Given the description of an element on the screen output the (x, y) to click on. 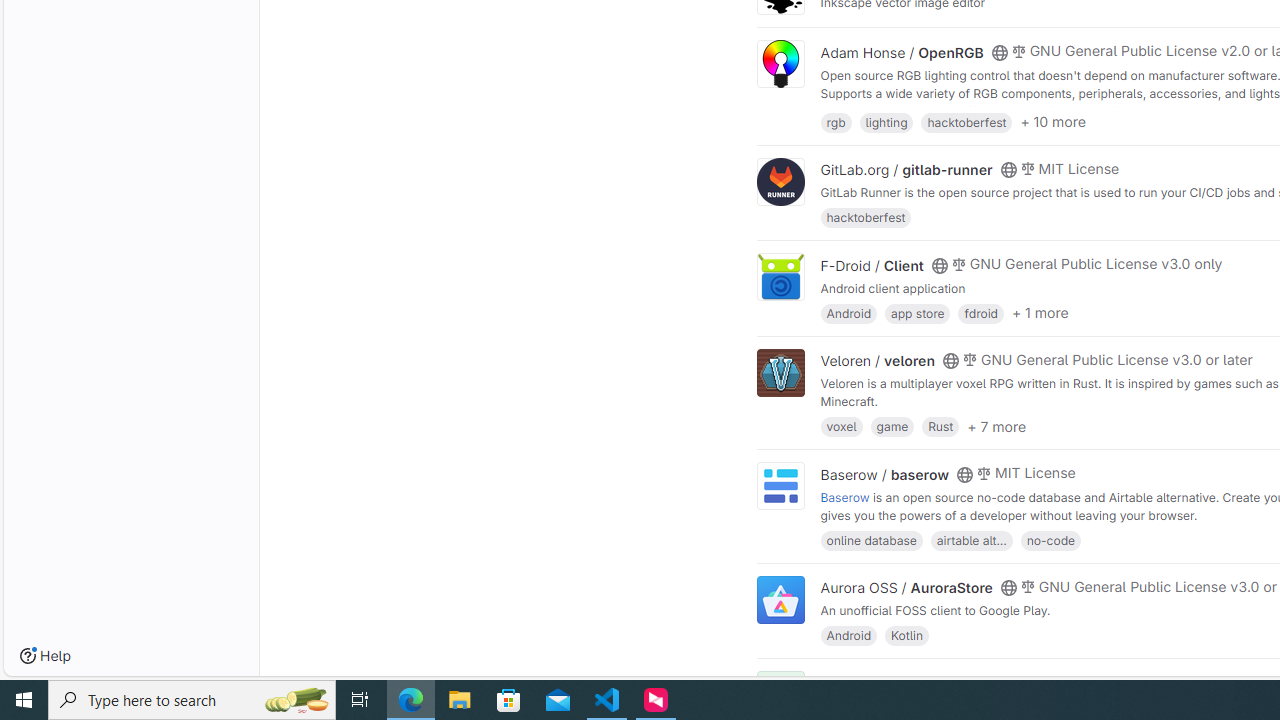
rgb (836, 120)
+ 10 more (1053, 121)
voxel (841, 426)
Android (848, 634)
Adam Honse / OpenRGB (902, 52)
Kotlin (907, 634)
https://openrgb.org (989, 110)
+ 1 more (1039, 313)
Class: s14 gl-mr-2 (1018, 681)
lighting (886, 120)
Baserow (845, 496)
Class: project (780, 599)
Aurora OSS / AuroraStore (906, 587)
F (780, 695)
Baserow / baserow (884, 474)
